Given the description of an element on the screen output the (x, y) to click on. 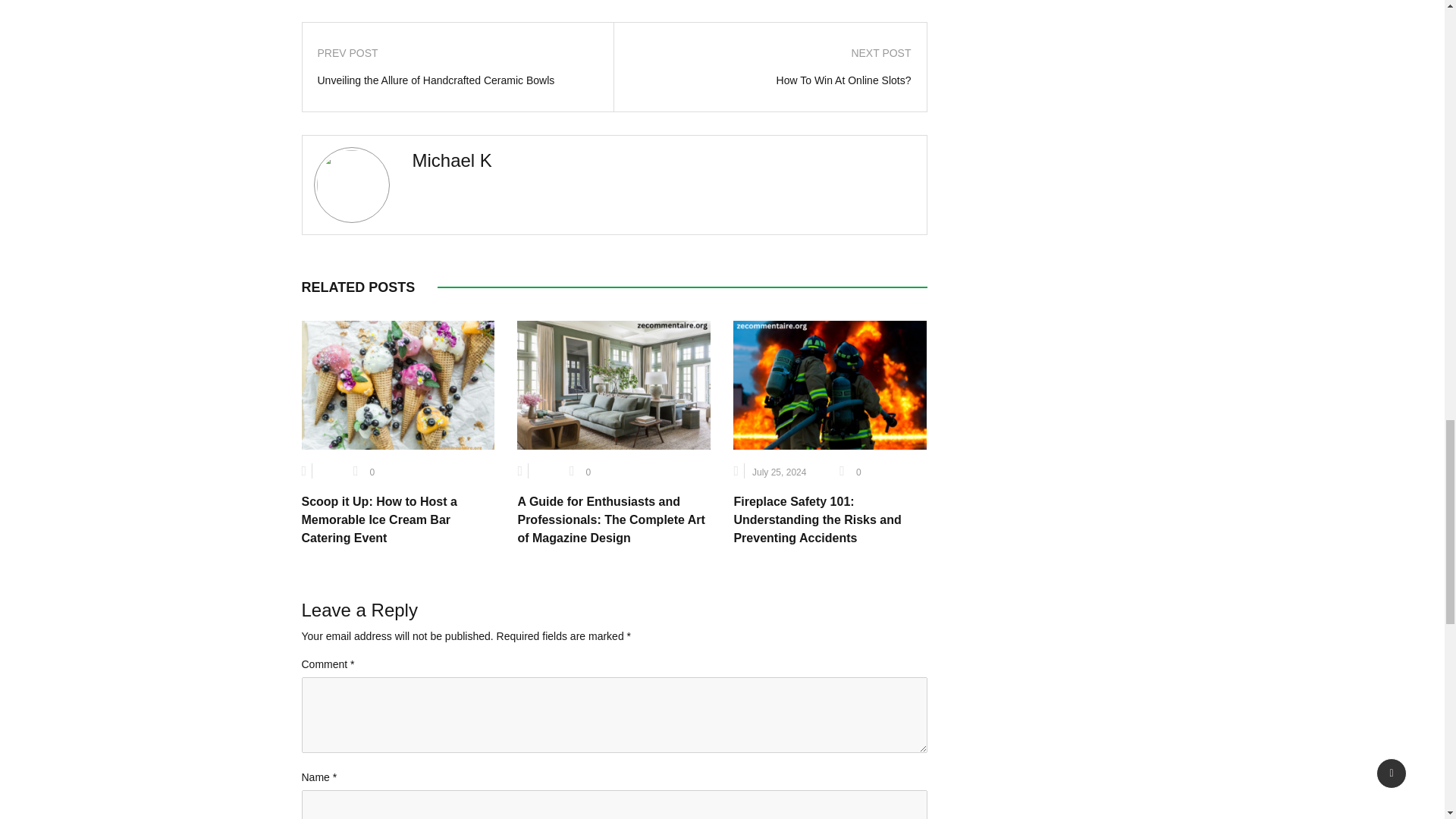
How To Win At Online Slots? (769, 80)
Unveiling the Allure of Handcrafted Ceramic Bowls (457, 80)
July 25, 2024 (779, 471)
